Given the description of an element on the screen output the (x, y) to click on. 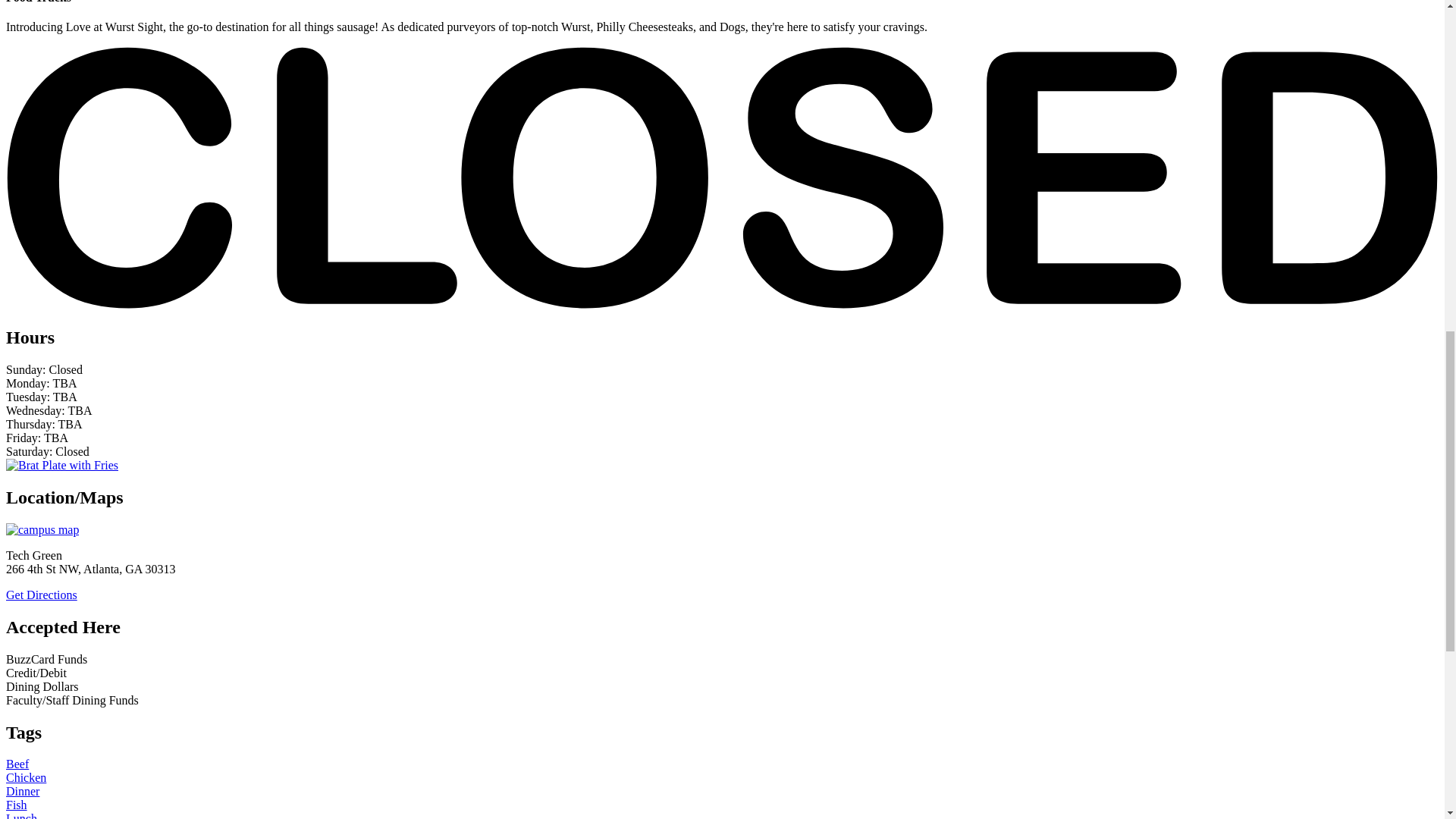
Brat Plate with Fries (61, 465)
campus map (41, 529)
Brat Plate with Fries (61, 464)
